Given the description of an element on the screen output the (x, y) to click on. 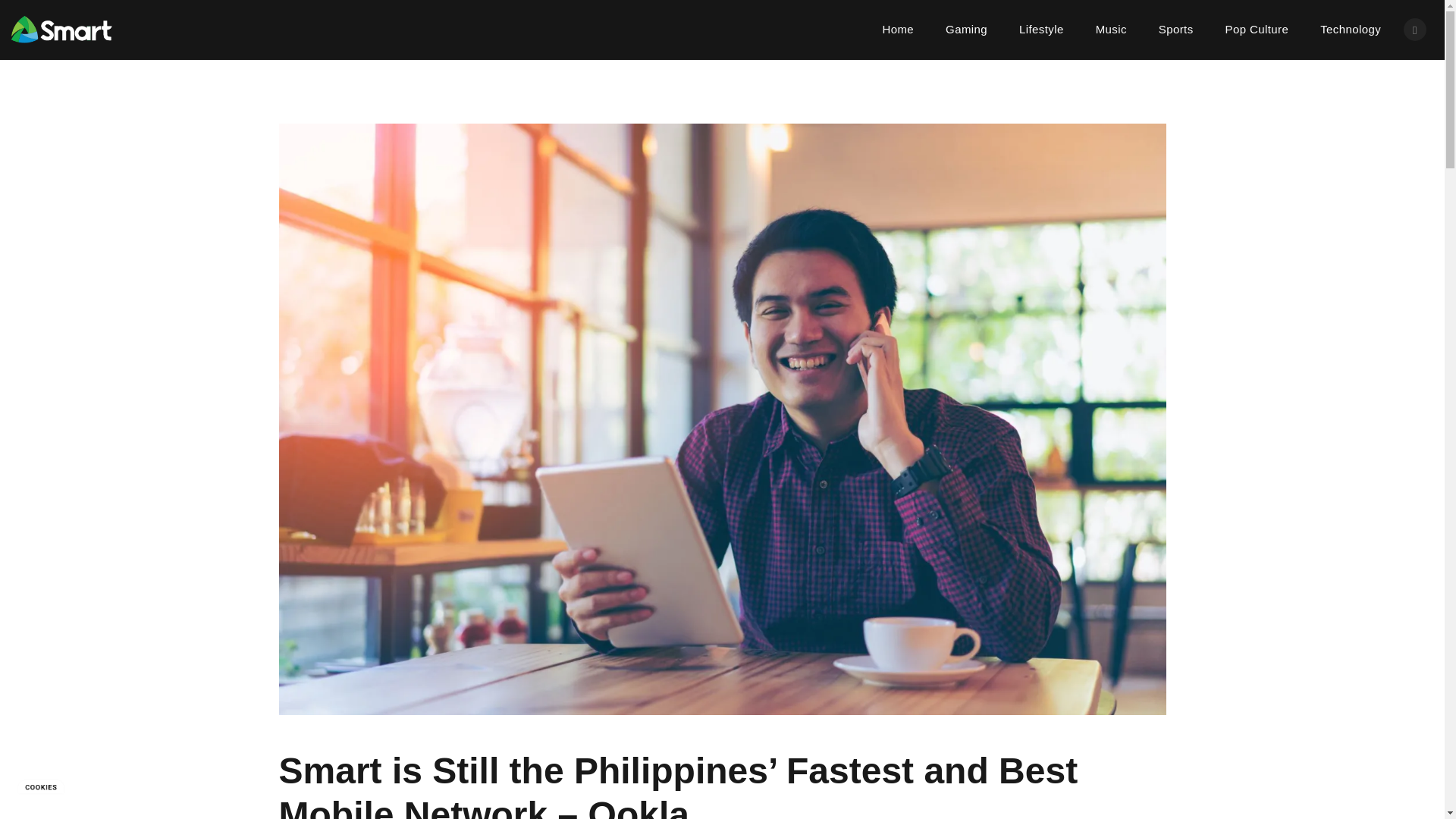
Home (898, 29)
Lifestyle (1041, 29)
Onetrust Cookie Settings (40, 786)
Gaming (966, 29)
Pop Culture (1256, 29)
Sports (1175, 29)
Technology (1350, 29)
Music (1111, 29)
